Given the description of an element on the screen output the (x, y) to click on. 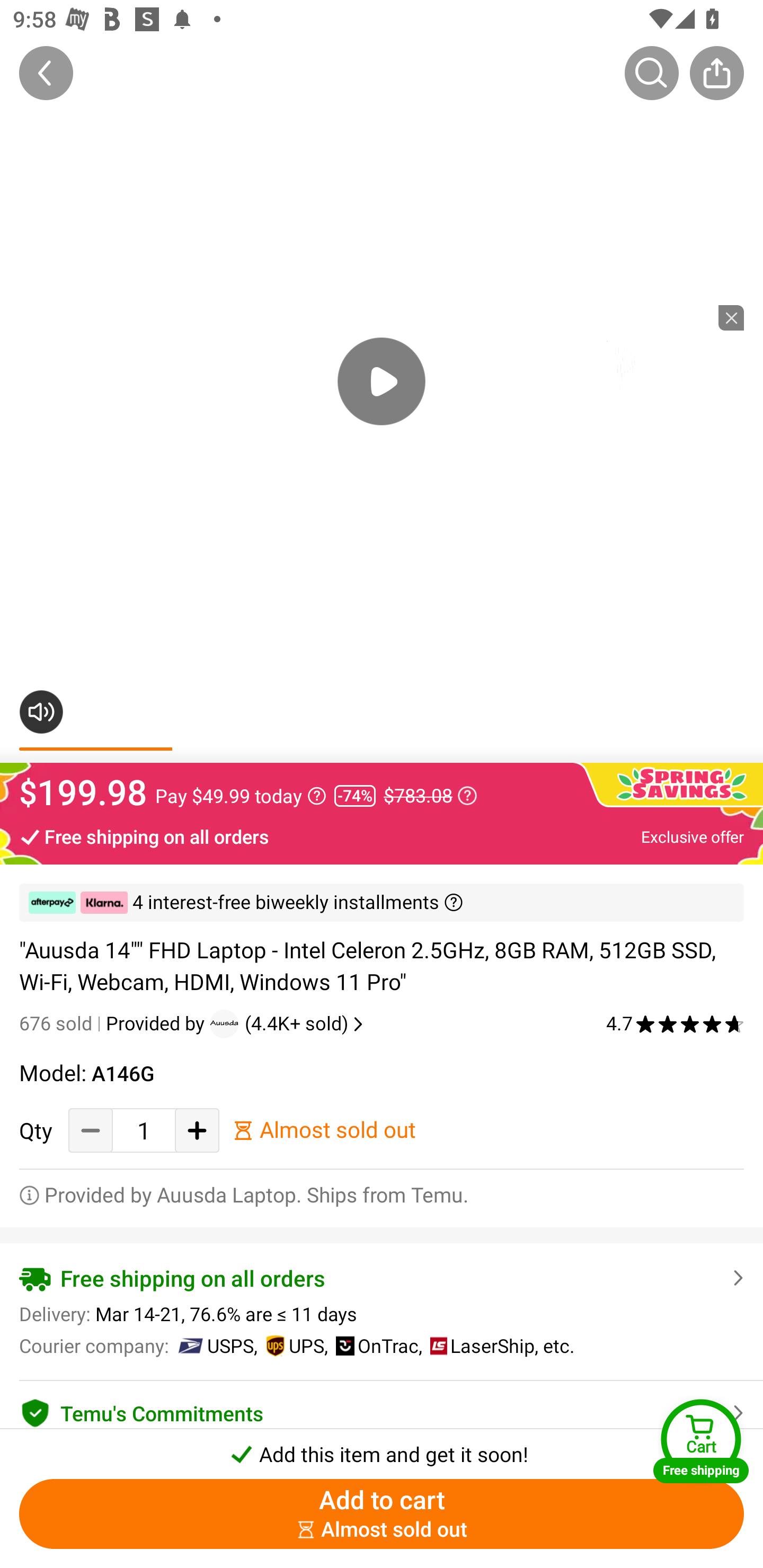
Back (46, 72)
Share (716, 72)
Pay $49.99 today   (240, 795)
Free shipping on all orders Exclusive offer (381, 836)
￼ ￼ 4 interest-free biweekly installments ￼ (381, 902)
4.7 (674, 1023)
Decrease Quantity Button (90, 1130)
1 (143, 1130)
Add Quantity button (196, 1130)
Temu's Commitments (381, 1410)
Cart Free shipping Cart (701, 1440)
￼￼Add this item and get it soon!  (381, 1448)
Add to cart ￼￼Almost sold out (381, 1513)
